Given the description of an element on the screen output the (x, y) to click on. 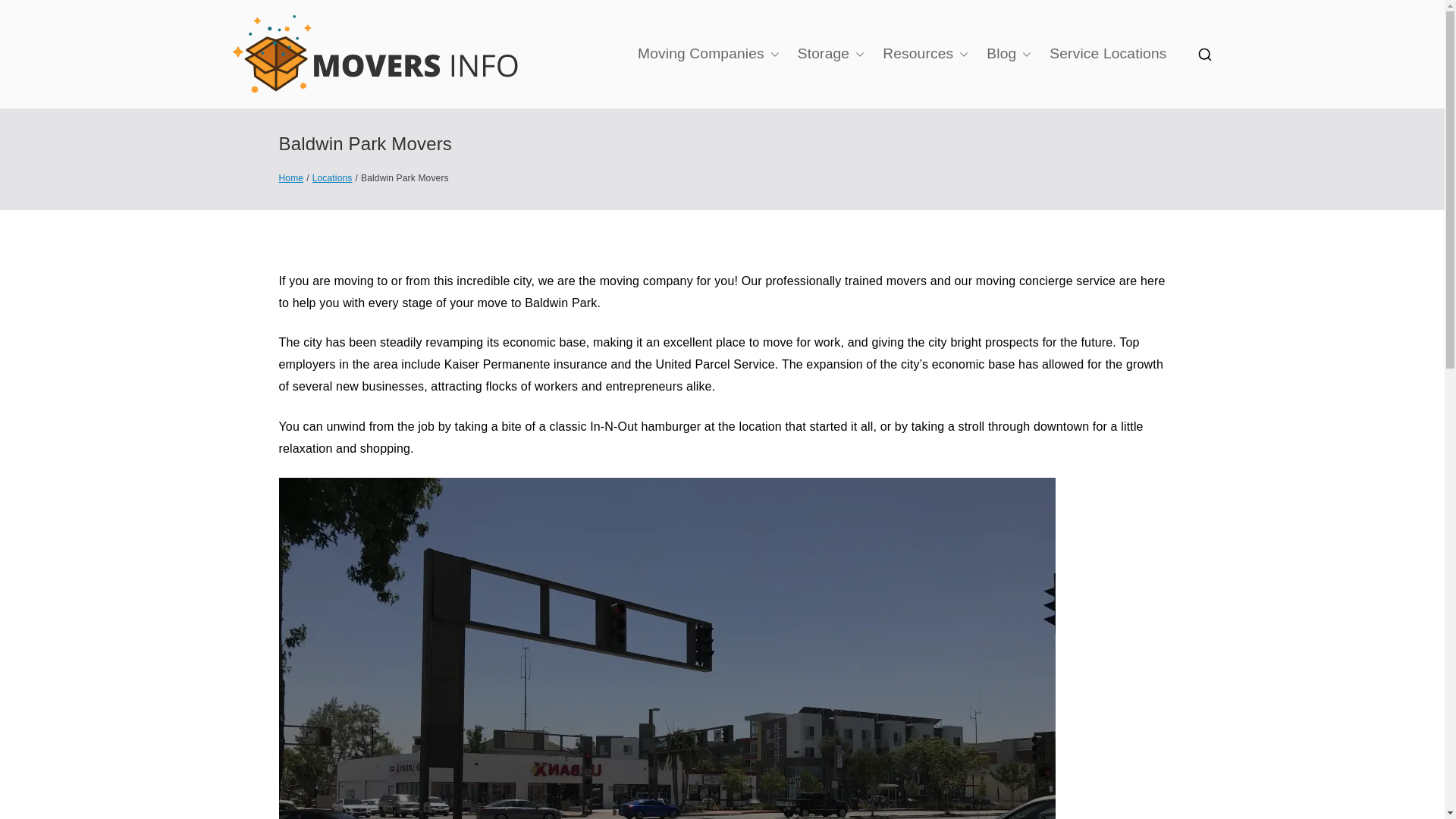
Service Locations (1107, 53)
Storage (830, 53)
Movers Near Me (651, 73)
Moving Companies (707, 53)
Resources (925, 53)
Blog (1008, 53)
